Given the description of an element on the screen output the (x, y) to click on. 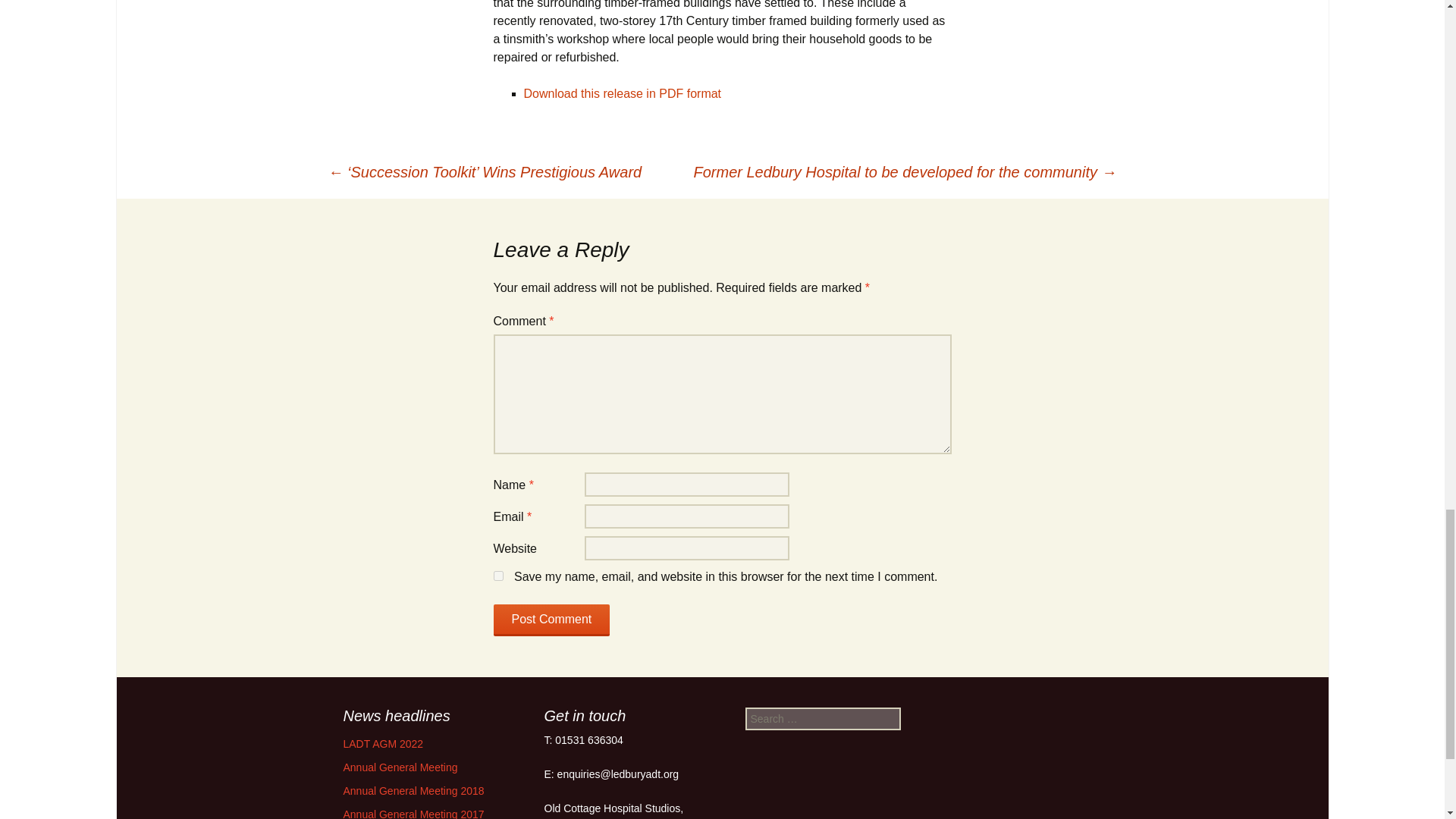
yes (497, 575)
LADT AGM 2022 (382, 743)
Post Comment (551, 620)
Annual General Meeting (399, 767)
Annual General Meeting 2017 (412, 813)
Download this release in PDF format (621, 92)
Annual General Meeting 2018 (412, 790)
Post Comment (551, 620)
